Given the description of an element on the screen output the (x, y) to click on. 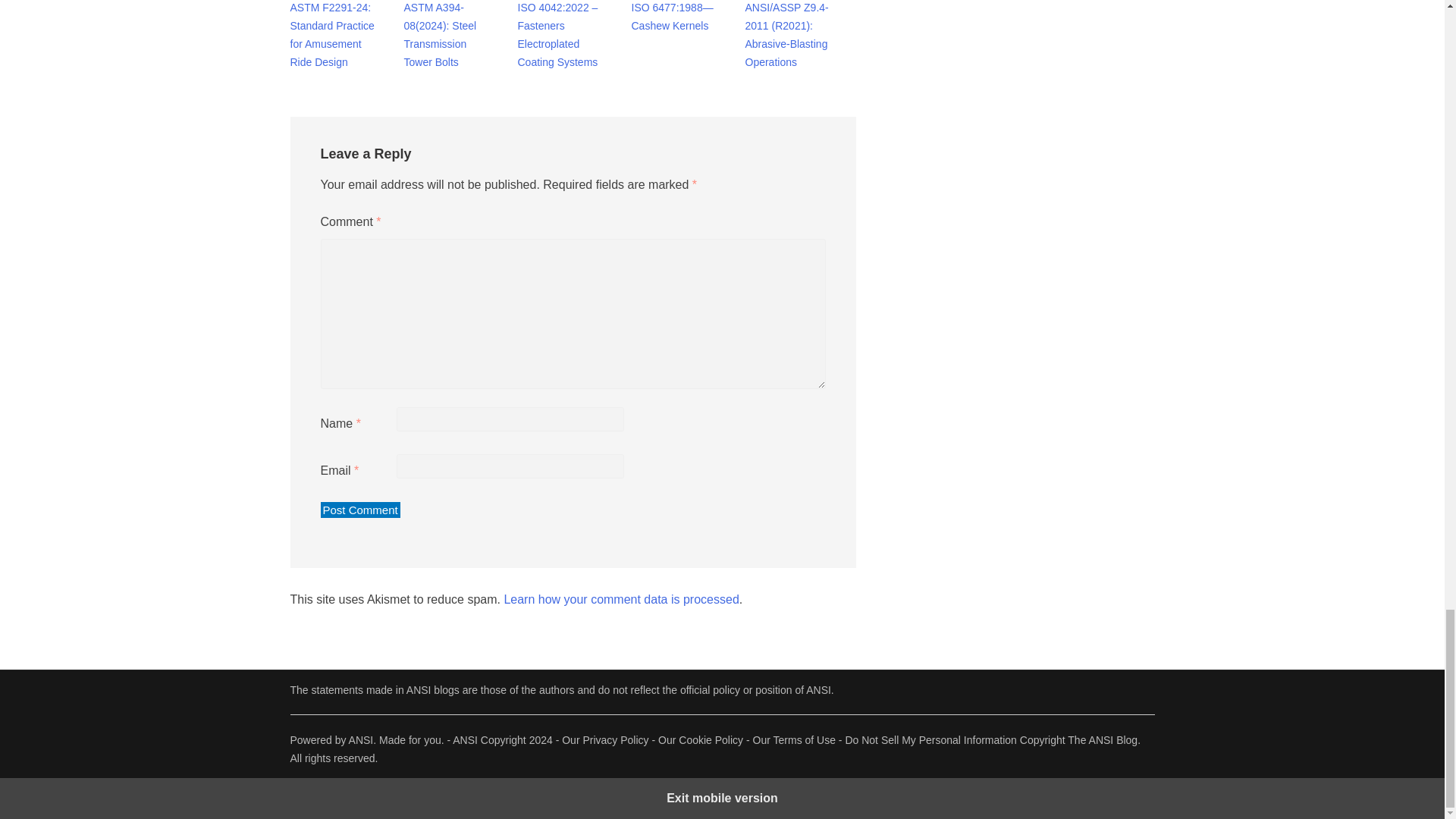
Post Comment (359, 509)
